Given the description of an element on the screen output the (x, y) to click on. 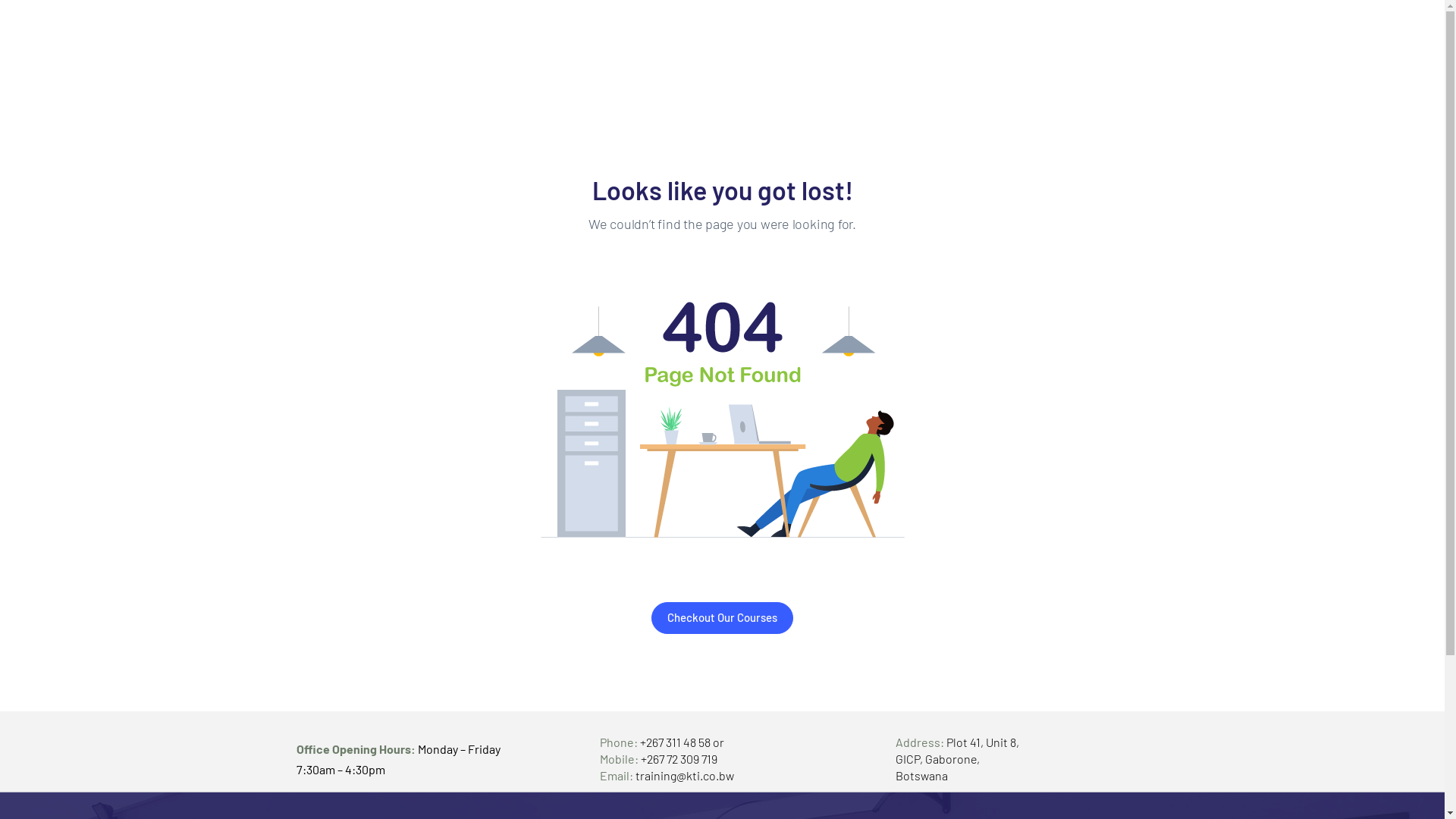
Checkout Our Courses Element type: text (722, 617)
